Given the description of an element on the screen output the (x, y) to click on. 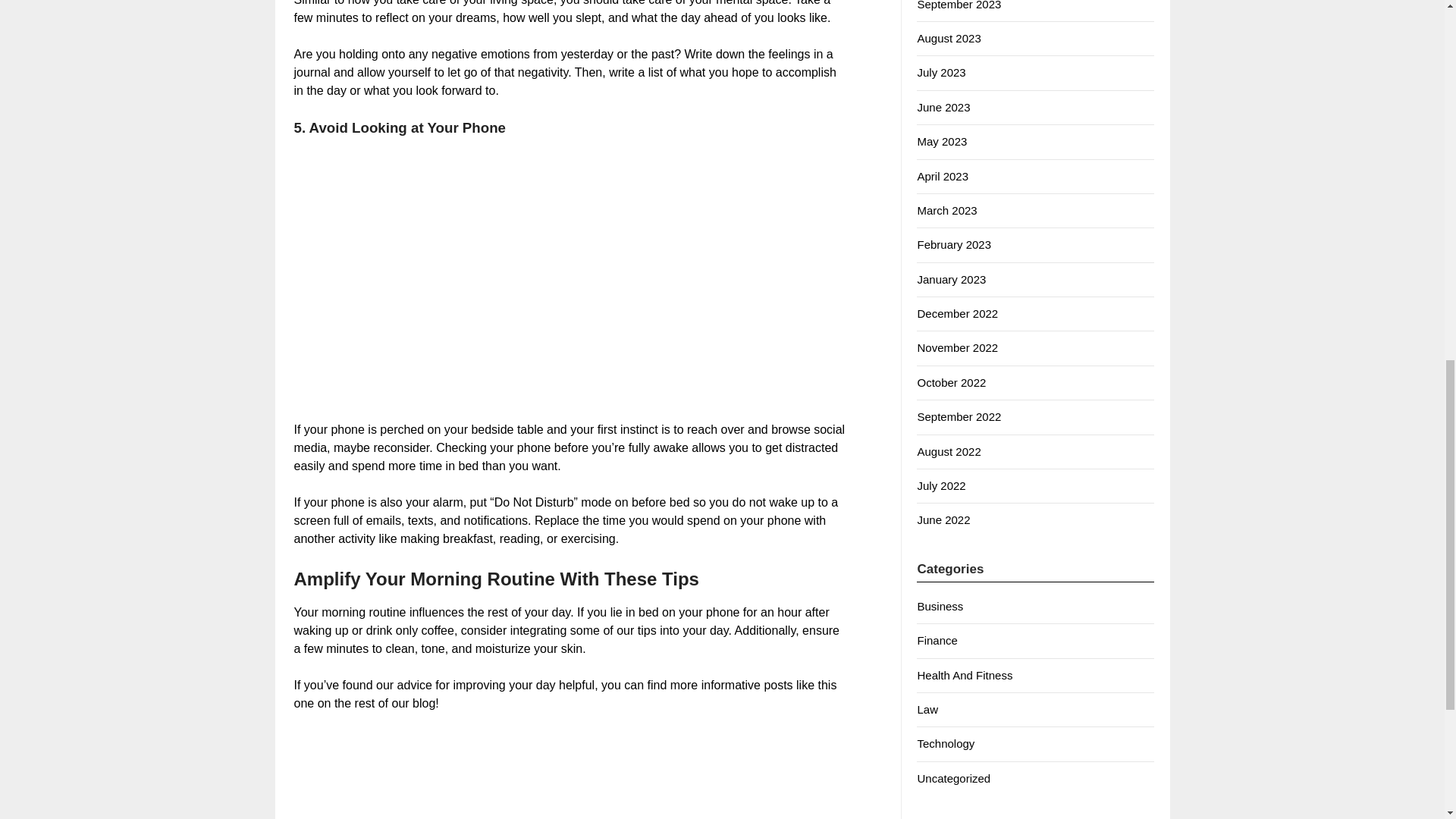
March 2023 (946, 210)
February 2023 (954, 244)
August 2023 (948, 38)
January 2023 (951, 278)
September 2023 (959, 5)
May 2023 (941, 141)
June 2023 (943, 106)
April 2023 (942, 175)
July 2023 (941, 72)
